Given the description of an element on the screen output the (x, y) to click on. 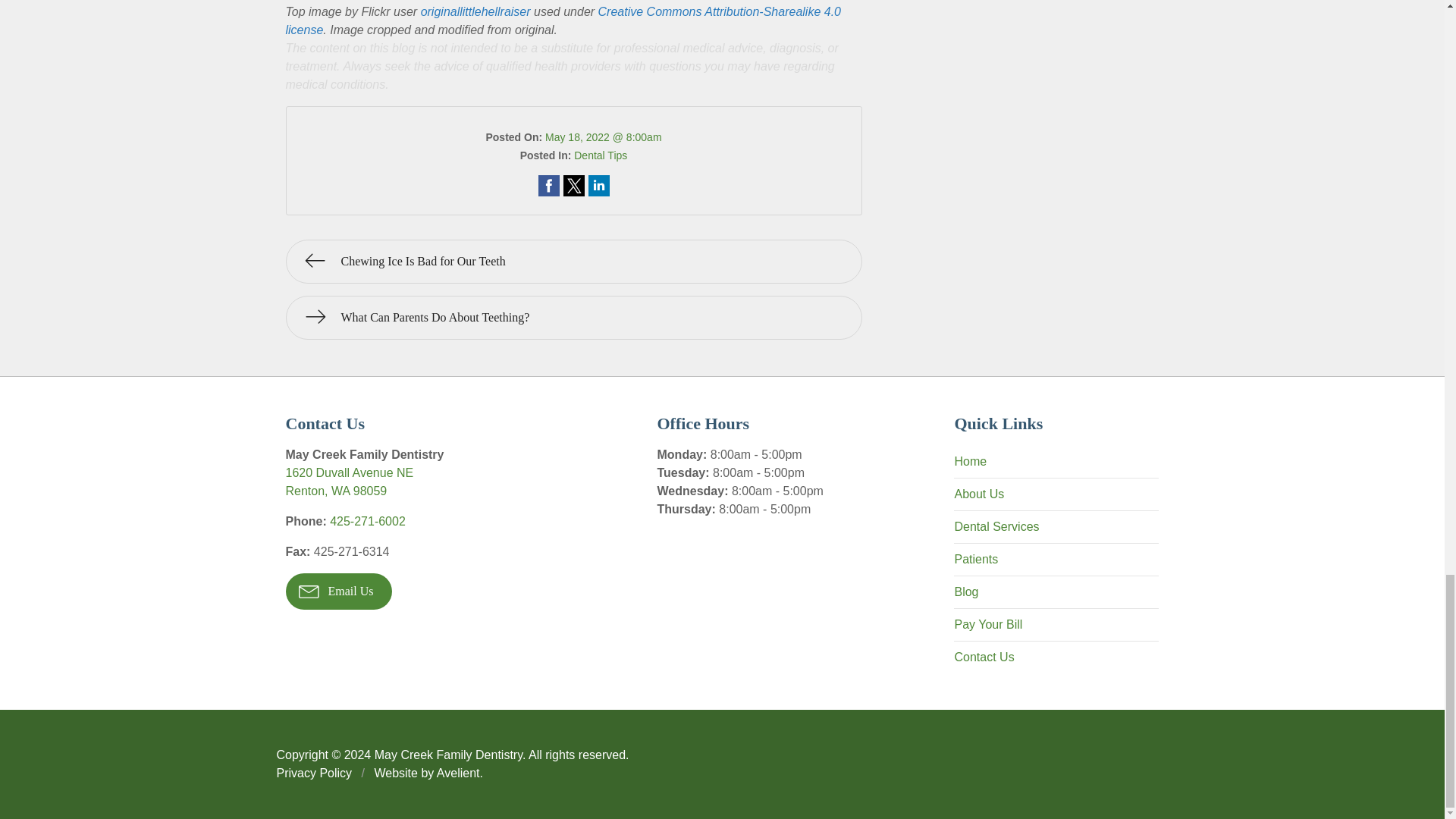
What Can Parents Do About Teething? (573, 317)
Share on Twitter (572, 185)
Share on Facebook (548, 185)
Share on LinkedIn (599, 185)
originallittlehellraiser (349, 481)
Dental Tips (475, 11)
Contact practice (600, 155)
Chewing Ice Is Bad for Our Teeth (368, 521)
Powered by Avelient (573, 261)
Share on LinkedIn (458, 772)
Creative Commons Attribution-Sharealike 4.0 license (599, 185)
Share on Twitter (562, 20)
Open this address in Google Maps (572, 185)
Share on Facebook (349, 481)
